Given the description of an element on the screen output the (x, y) to click on. 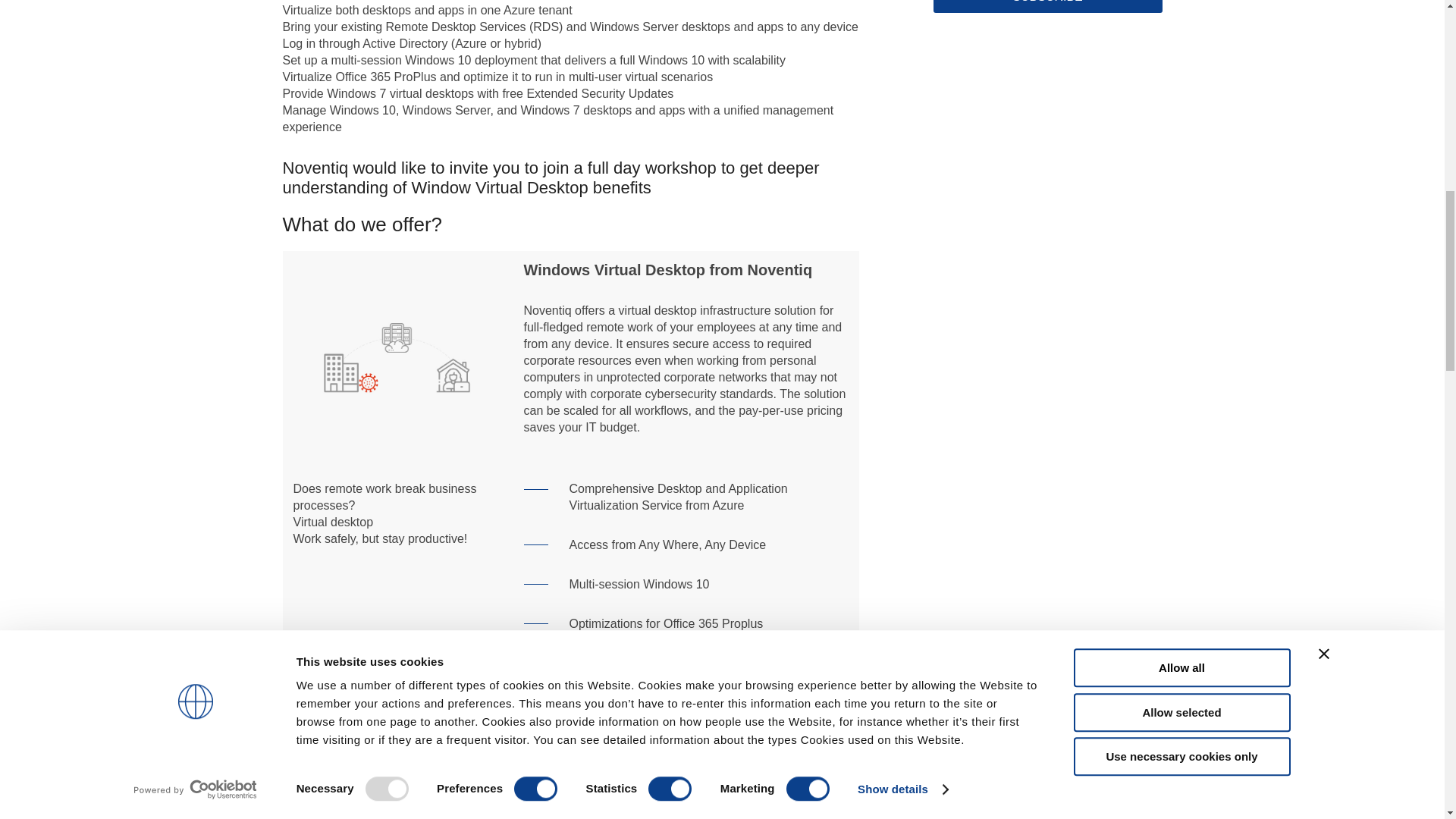
Subscribe (1047, 6)
